Given the description of an element on the screen output the (x, y) to click on. 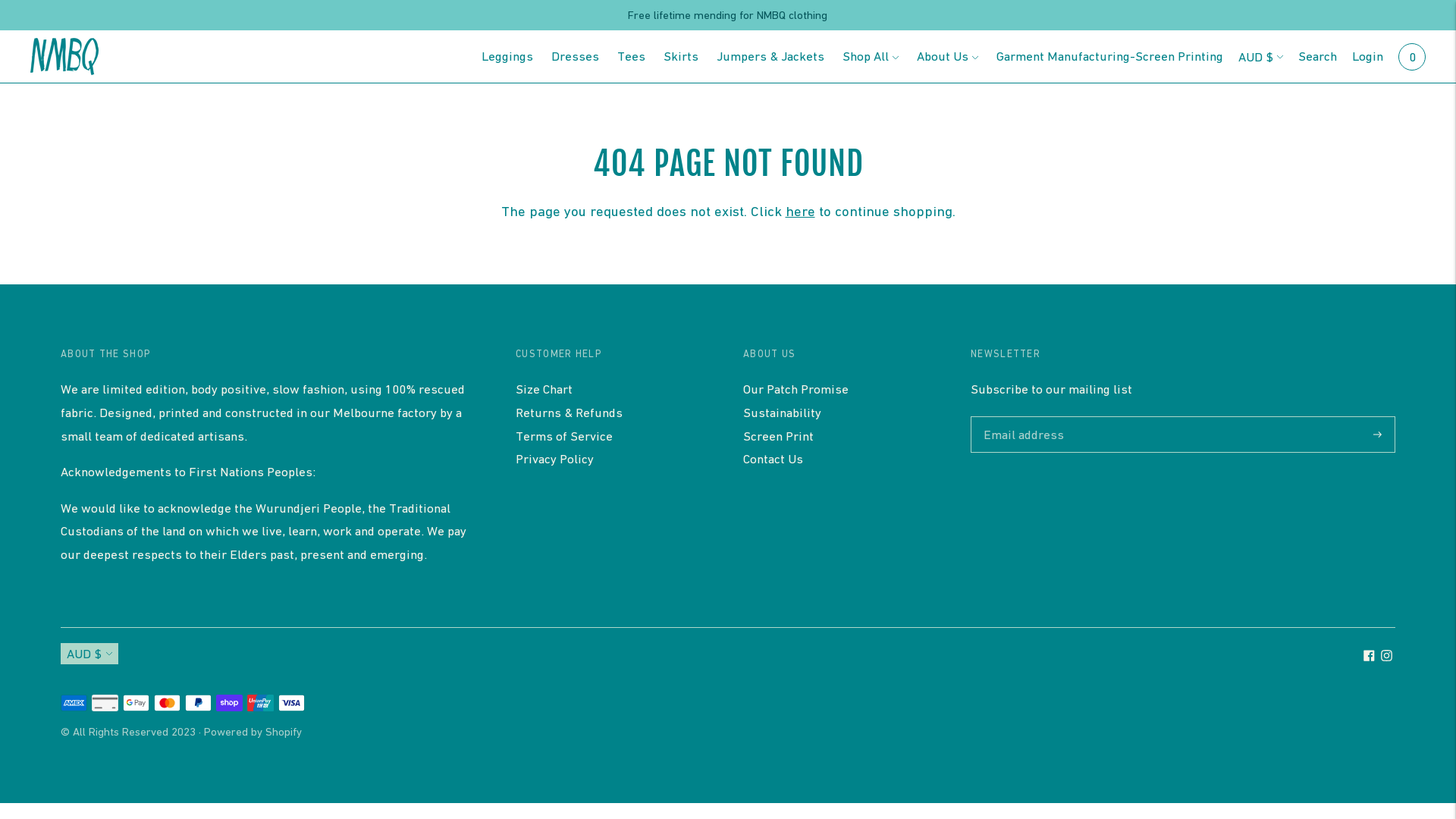
0 Element type: text (1411, 55)
Privacy Policy Element type: text (554, 458)
Skirts Element type: text (680, 55)
Tees Element type: text (631, 55)
Powered by Shopify Element type: text (252, 730)
Dresses Element type: text (575, 55)
Contact Us Element type: text (773, 458)
Screen Print Element type: text (778, 435)
Garment Manufacturing-Screen Printing Element type: text (1109, 55)
About Us Element type: text (947, 55)
Our Patch Promise Element type: text (795, 388)
Terms of Service Element type: text (563, 435)
Search Element type: text (1317, 55)
Size Chart Element type: text (543, 388)
AUD $ Element type: text (89, 653)
Shop All Element type: text (870, 55)
NMBQ Boutique  on Instagram Element type: hover (1386, 656)
here Element type: text (800, 211)
Returns & Refunds Element type: text (568, 412)
NMBQ Boutique  on Facebook Element type: hover (1368, 656)
AUD $ Element type: text (1260, 55)
Login Element type: text (1367, 55)
Leggings Element type: text (507, 55)
Sustainability Element type: text (782, 412)
Jumpers & Jackets Element type: text (770, 55)
